Given the description of an element on the screen output the (x, y) to click on. 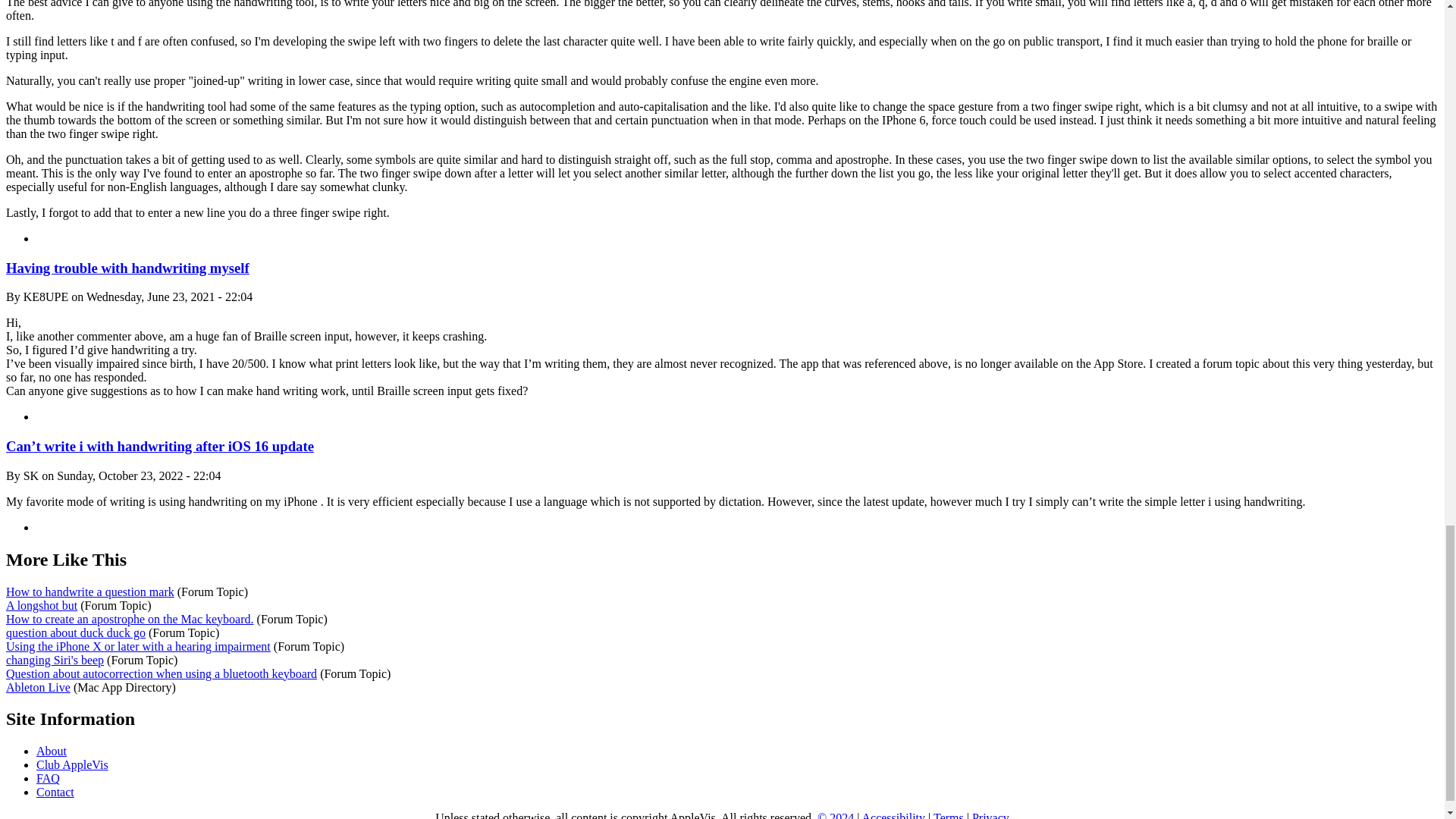
Answers to some frequently asked questions about AppleVis (47, 778)
question about duck duck go (75, 632)
About (51, 750)
Ableton Live (37, 686)
How to handwrite a question mark (89, 591)
Having trouble with handwriting myself (126, 268)
How to create an apostrophe on the Mac keyboard. (129, 618)
Using the iPhone X or later with a hearing impairment (137, 645)
About (51, 750)
changing Siri's beep (54, 659)
A longshot but (41, 604)
Club AppleVis (71, 764)
